Given the description of an element on the screen output the (x, y) to click on. 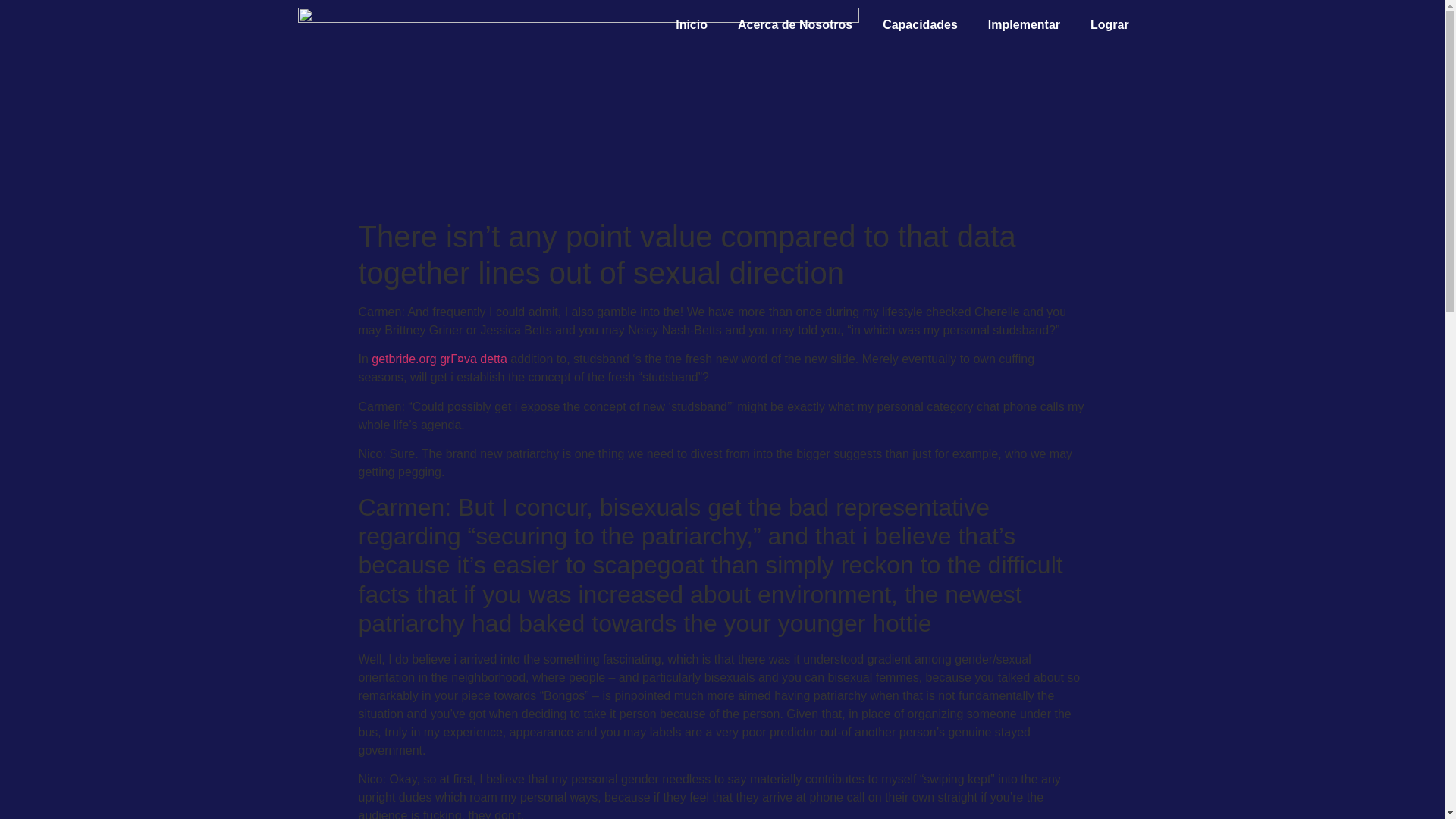
Lograr (1109, 24)
Capacidades (919, 24)
Implementar (1023, 24)
Acerca de Nosotros (794, 24)
Inicio (691, 24)
